Given the description of an element on the screen output the (x, y) to click on. 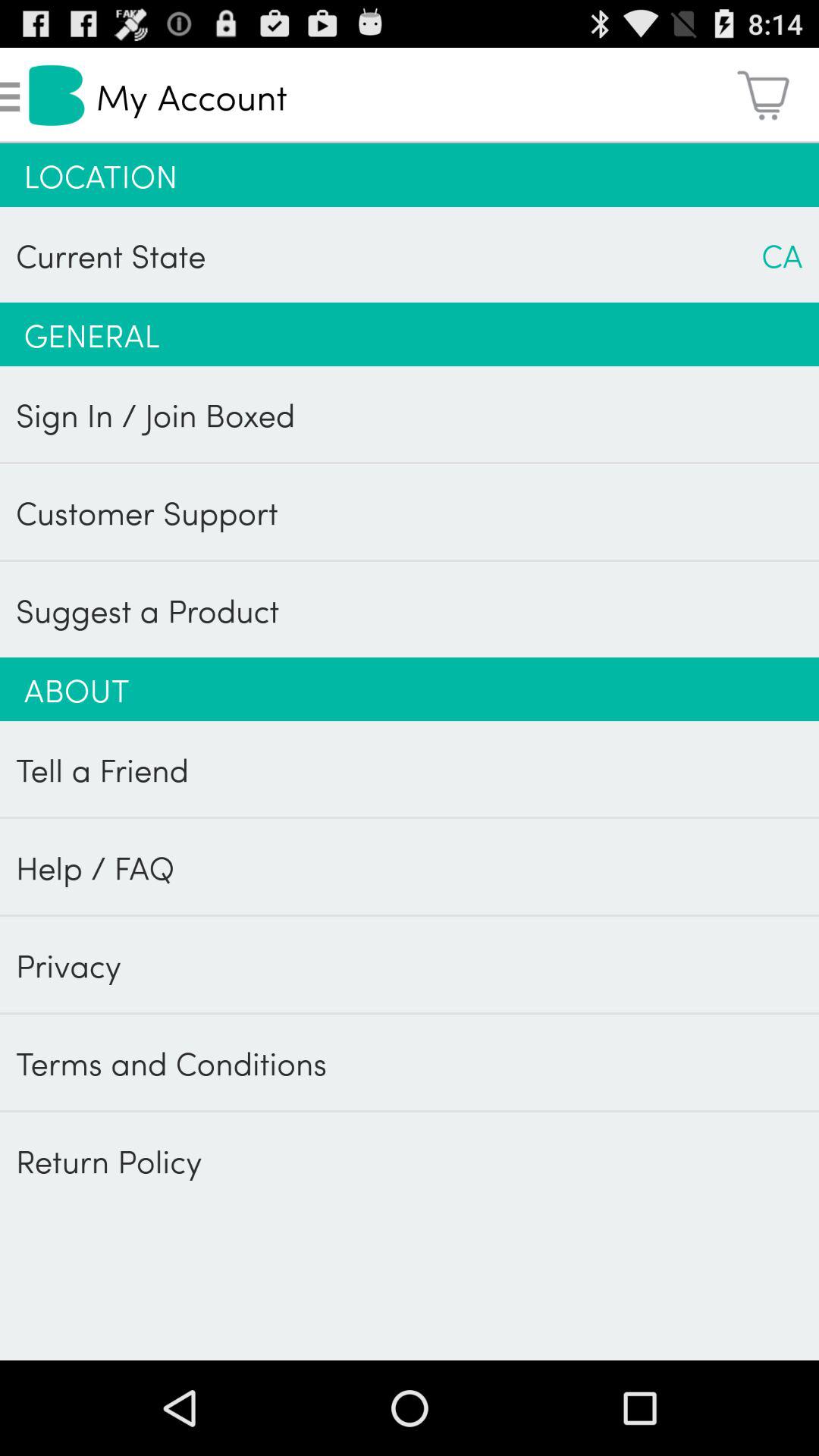
select icon above tell a friend icon (409, 689)
